Given the description of an element on the screen output the (x, y) to click on. 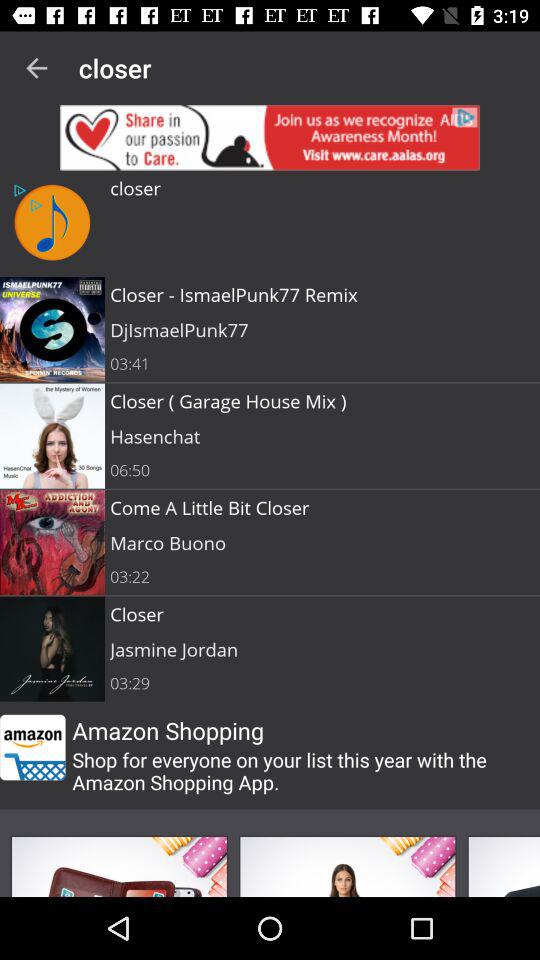
advertisement (270, 137)
